Given the description of an element on the screen output the (x, y) to click on. 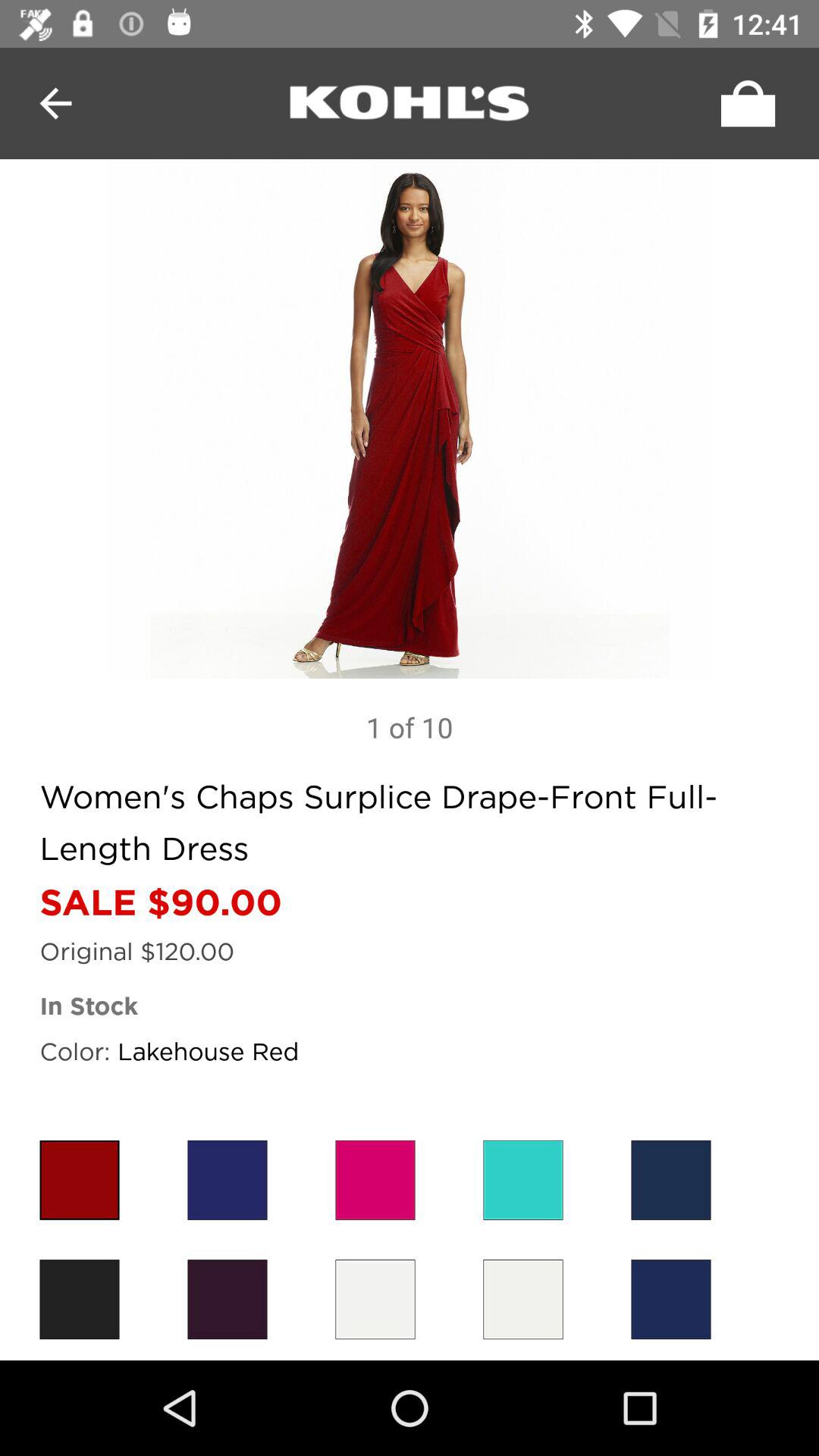
themes (670, 1179)
